Given the description of an element on the screen output the (x, y) to click on. 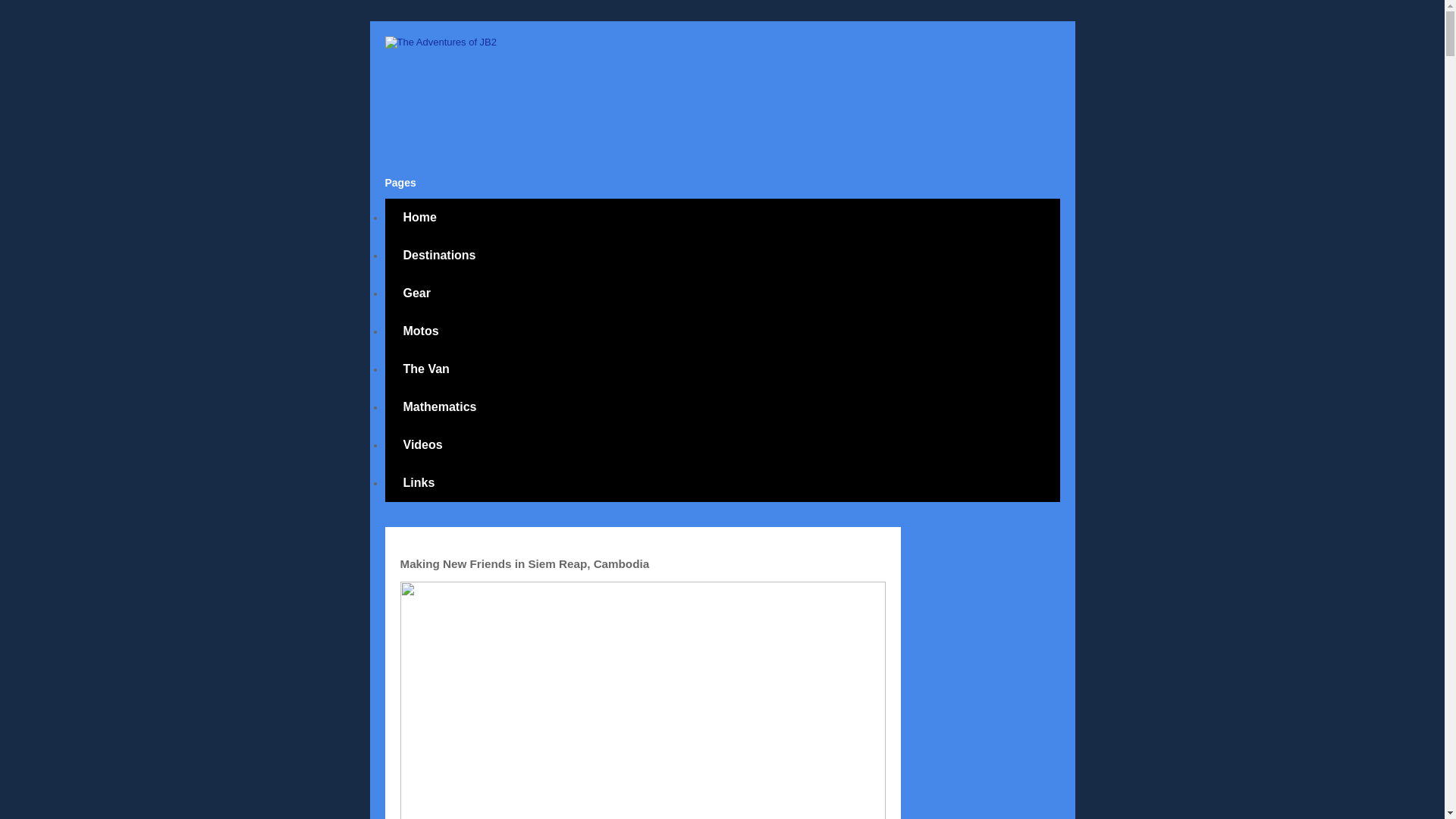
Gear (416, 293)
Links (418, 483)
Videos (423, 444)
Home (419, 217)
Destinations (440, 255)
The Van (426, 369)
Mathematics (440, 406)
Motos (421, 331)
